Given the description of an element on the screen output the (x, y) to click on. 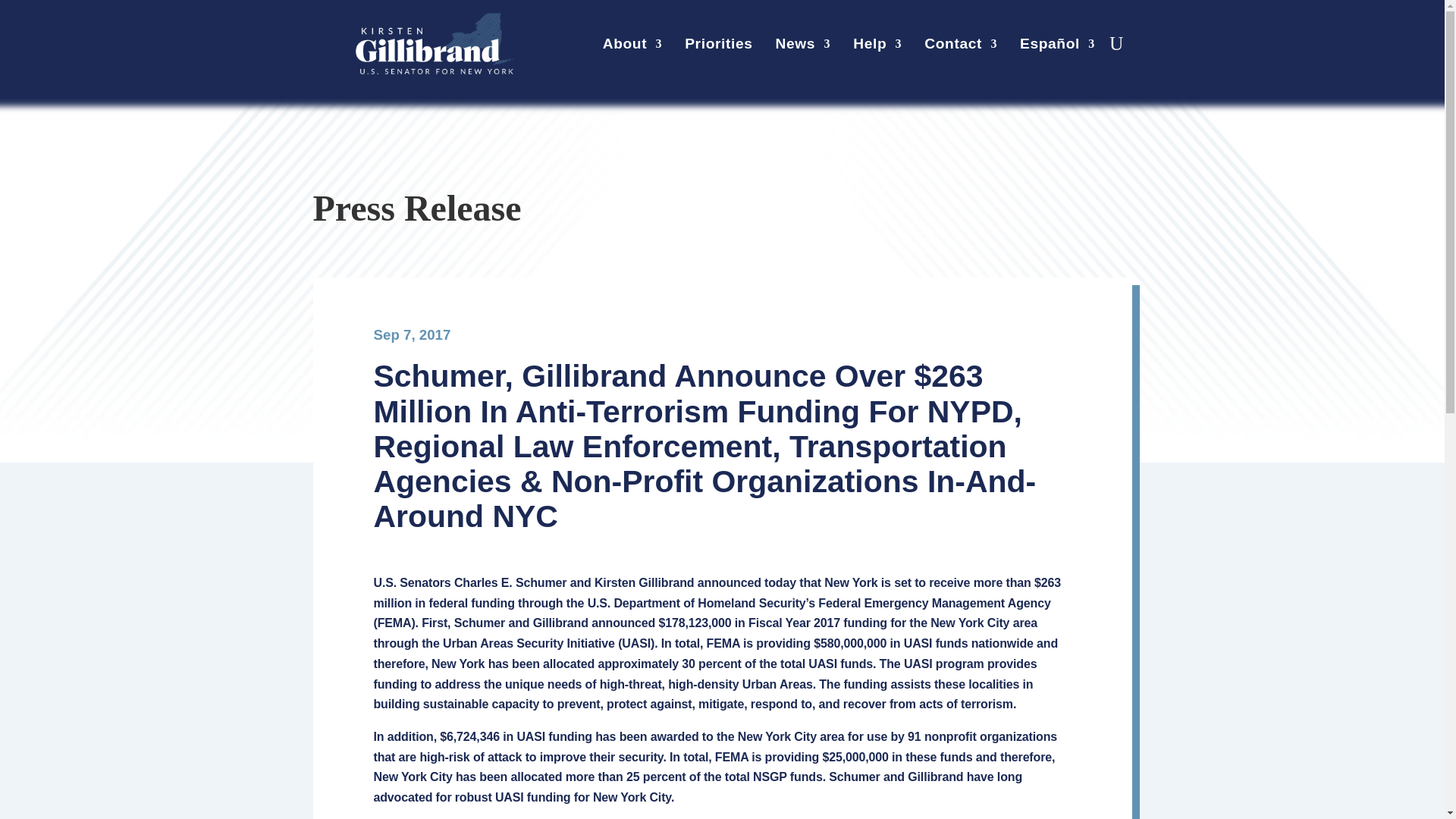
Priorities (718, 46)
Contact (960, 46)
gillibrand-logo (434, 43)
News (803, 46)
Help (877, 46)
About (632, 46)
